Given the description of an element on the screen output the (x, y) to click on. 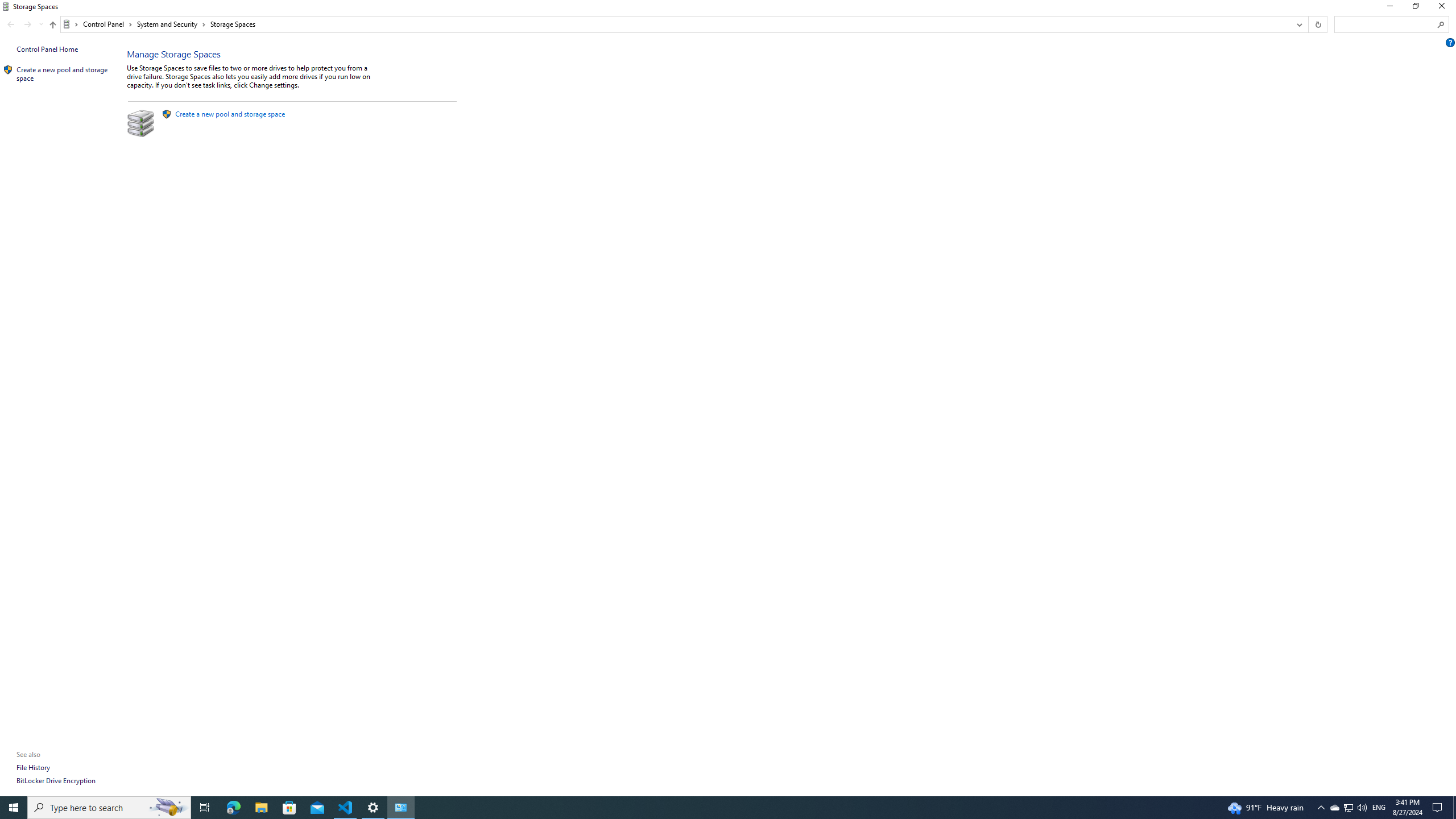
Forward (Alt + Right Arrow) (27, 23)
Previous Locations (1298, 23)
Up to "System and Security" (Alt + Up Arrow) (52, 24)
Control Panel Home (47, 49)
Control Panel - 1 running window (400, 807)
BitLocker Drive Encryption (56, 780)
File History (33, 767)
Address band toolbar (1308, 23)
Up band toolbar (52, 26)
Navigation buttons (24, 23)
